Given the description of an element on the screen output the (x, y) to click on. 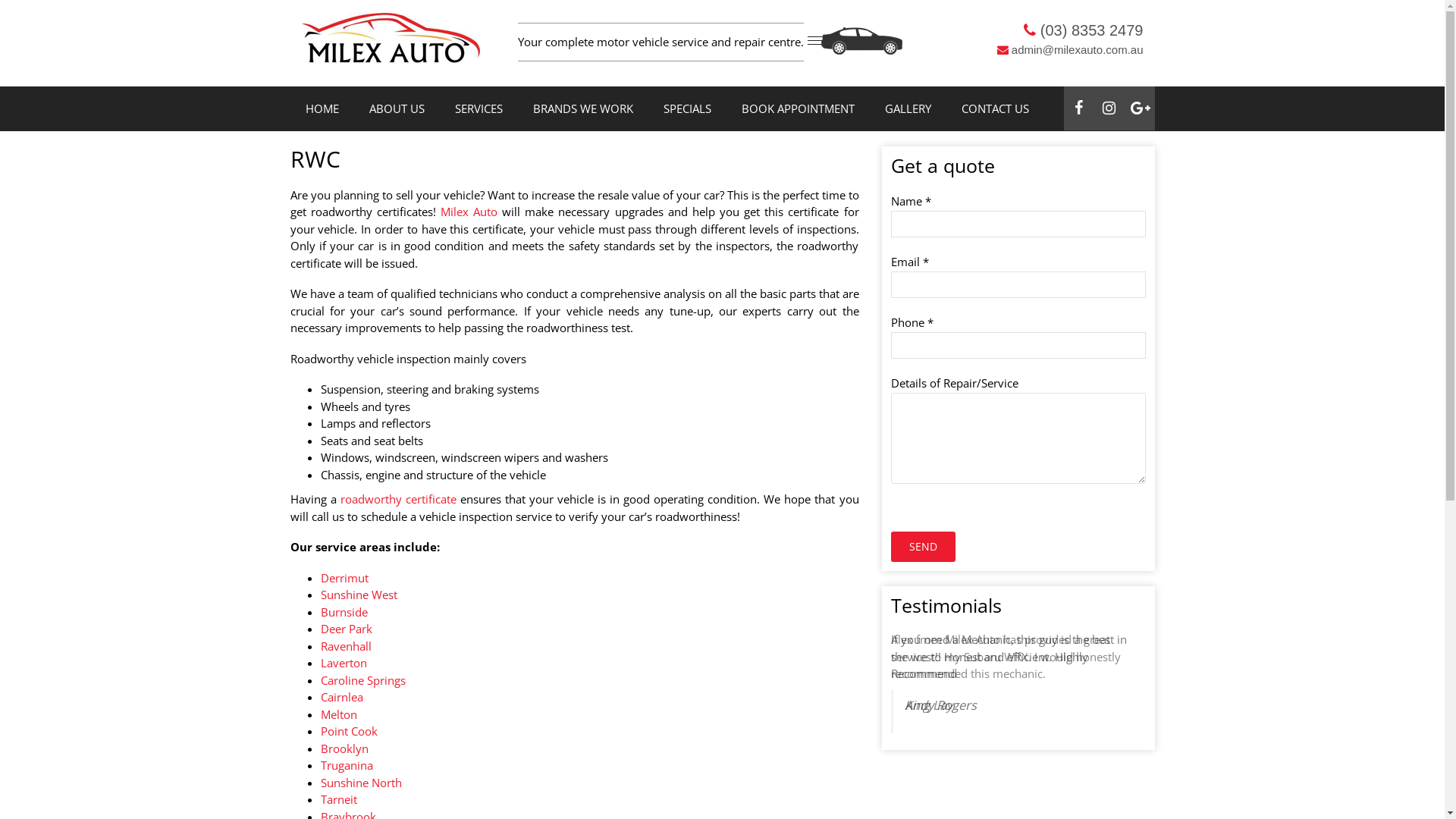
Laverton Element type: text (343, 662)
Truganina Element type: text (346, 764)
Cairnlea Element type: text (341, 696)
SPECIALS Element type: text (686, 108)
Instagram Element type: hover (1108, 108)
Brooklyn Element type: text (343, 748)
ABOUT US Element type: text (395, 108)
Melton Element type: text (338, 713)
HOME Element type: text (321, 108)
Sunshine North Element type: text (360, 782)
roadworthy certificate Element type: text (398, 498)
SERVICES Element type: text (478, 108)
BOOK APPOINTMENT Element type: text (798, 108)
Ravenhall Element type: text (345, 645)
Derrimut Element type: text (343, 577)
Send Element type: text (922, 546)
Facebook Element type: hover (1078, 108)
Tarneit Element type: text (338, 798)
Deer Park Element type: text (345, 628)
Skip to content Element type: text (0, 0)
GALLERY Element type: text (907, 108)
Point Cook Element type: text (348, 730)
Google+ Element type: hover (1138, 108)
BRANDS WE WORK Element type: text (582, 108)
Sunshine West Element type: text (358, 594)
admin@milexauto.com.au Element type: text (1070, 49)
Caroline Springs Element type: text (362, 679)
CONTACT US Element type: text (994, 108)
Milex Auto Element type: text (468, 211)
(03) 8353 2479 Element type: text (1082, 29)
Burnside Element type: text (343, 611)
